Given the description of an element on the screen output the (x, y) to click on. 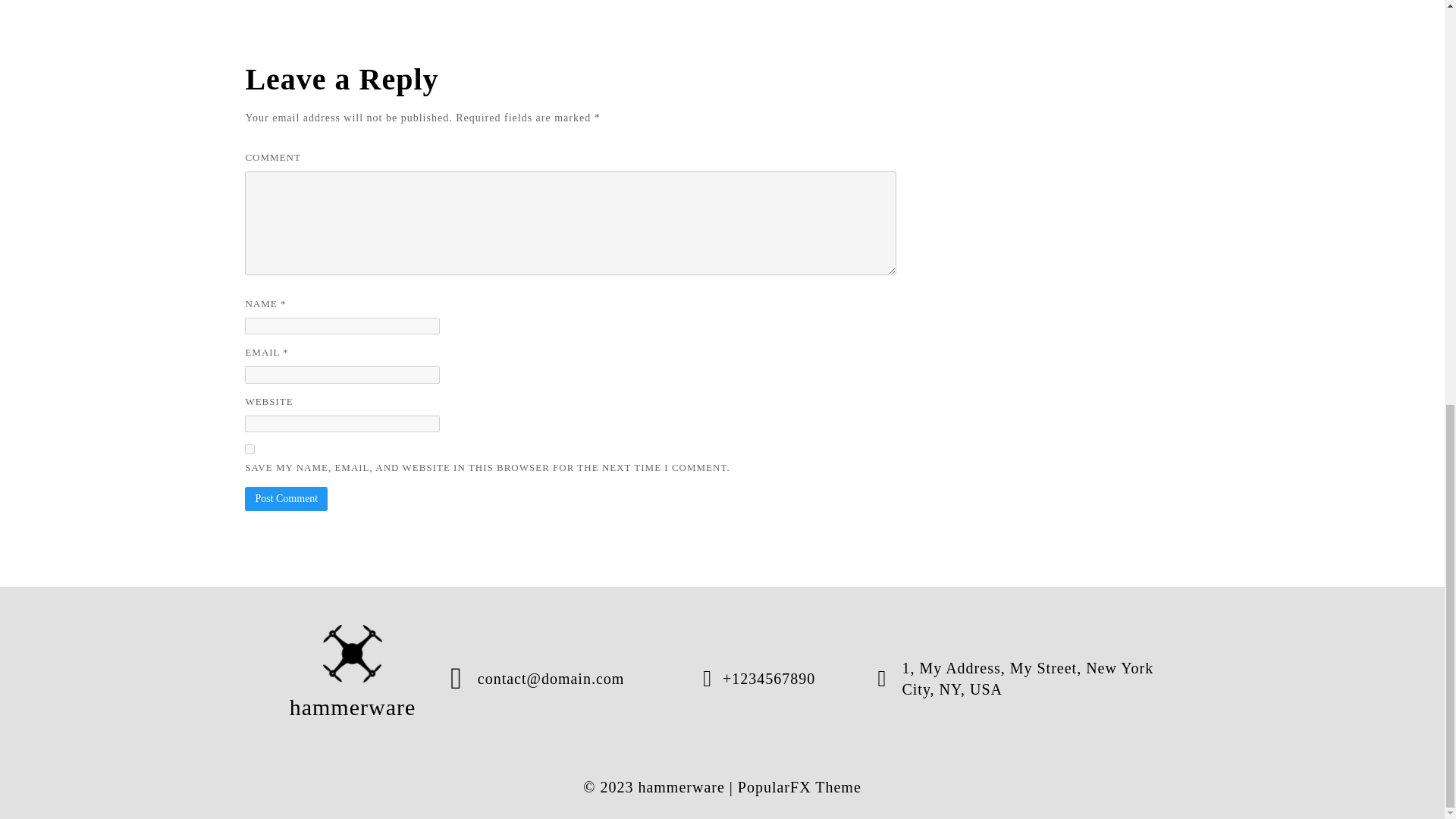
hammerware (352, 678)
logo (352, 653)
Post Comment (285, 498)
Post Comment (285, 498)
yes (249, 449)
PopularFX Theme (799, 786)
